Given the description of an element on the screen output the (x, y) to click on. 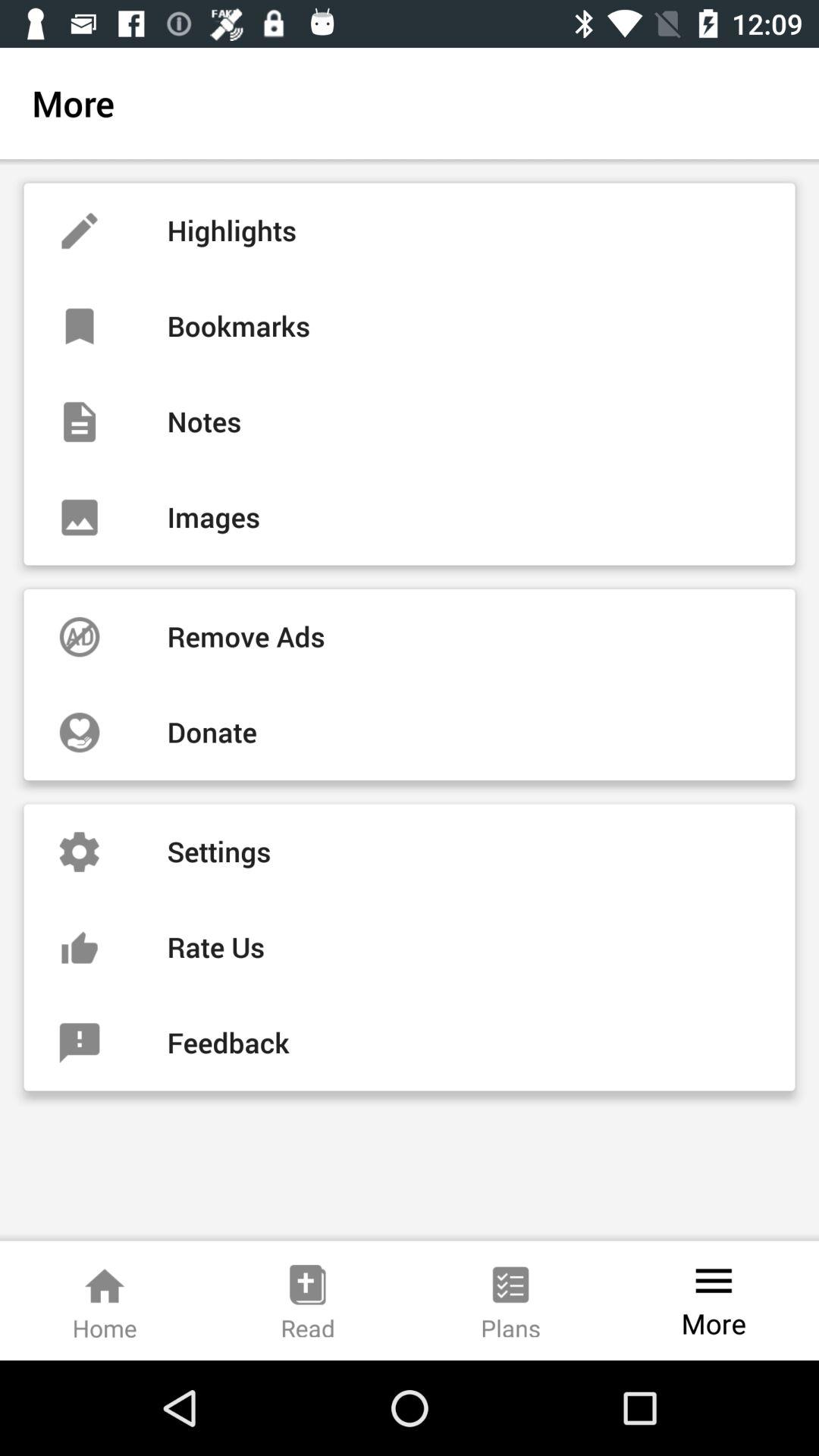
jump to rate us (409, 947)
